Given the description of an element on the screen output the (x, y) to click on. 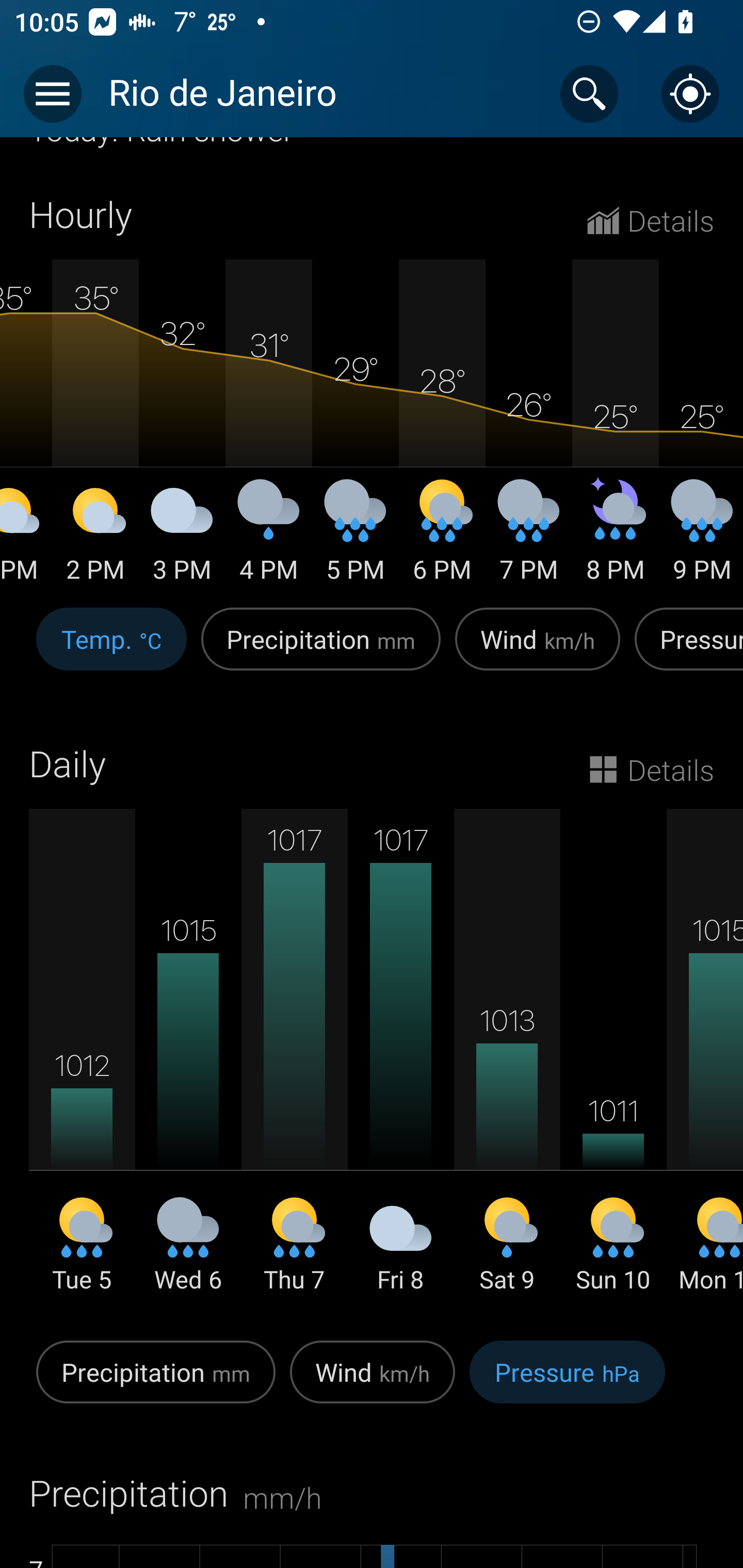
1 PM (26, 538)
2 PM (95, 538)
3 PM (181, 538)
4 PM (268, 538)
5 PM (355, 538)
6 PM (441, 538)
7 PM (528, 538)
8 PM (615, 538)
9 PM (701, 538)
Temp. °C (110, 649)
Precipitation mm (320, 649)
Wind km/h (537, 649)
Pressure (685, 649)
1012 Tue 5 (81, 1063)
1015 Wed 6 (188, 1063)
1017 Thu 7 (294, 1063)
1017 Fri 8 (400, 1063)
1013 Sat 9 (506, 1063)
1011 Sun 10 (613, 1063)
1015 Mon 11 (704, 1063)
Precipitation mm (155, 1381)
Wind km/h (372, 1381)
Pressure hPa (567, 1381)
